Given the description of an element on the screen output the (x, y) to click on. 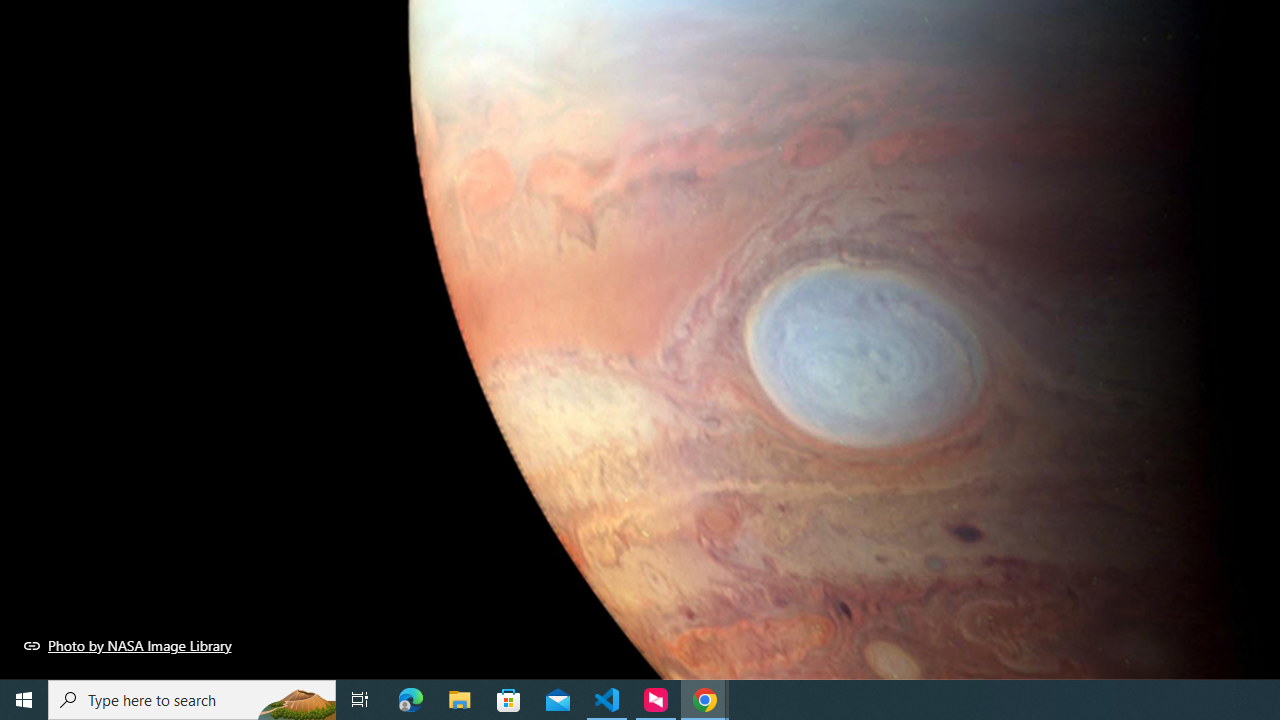
Photo by NASA Image Library (127, 645)
